Given the description of an element on the screen output the (x, y) to click on. 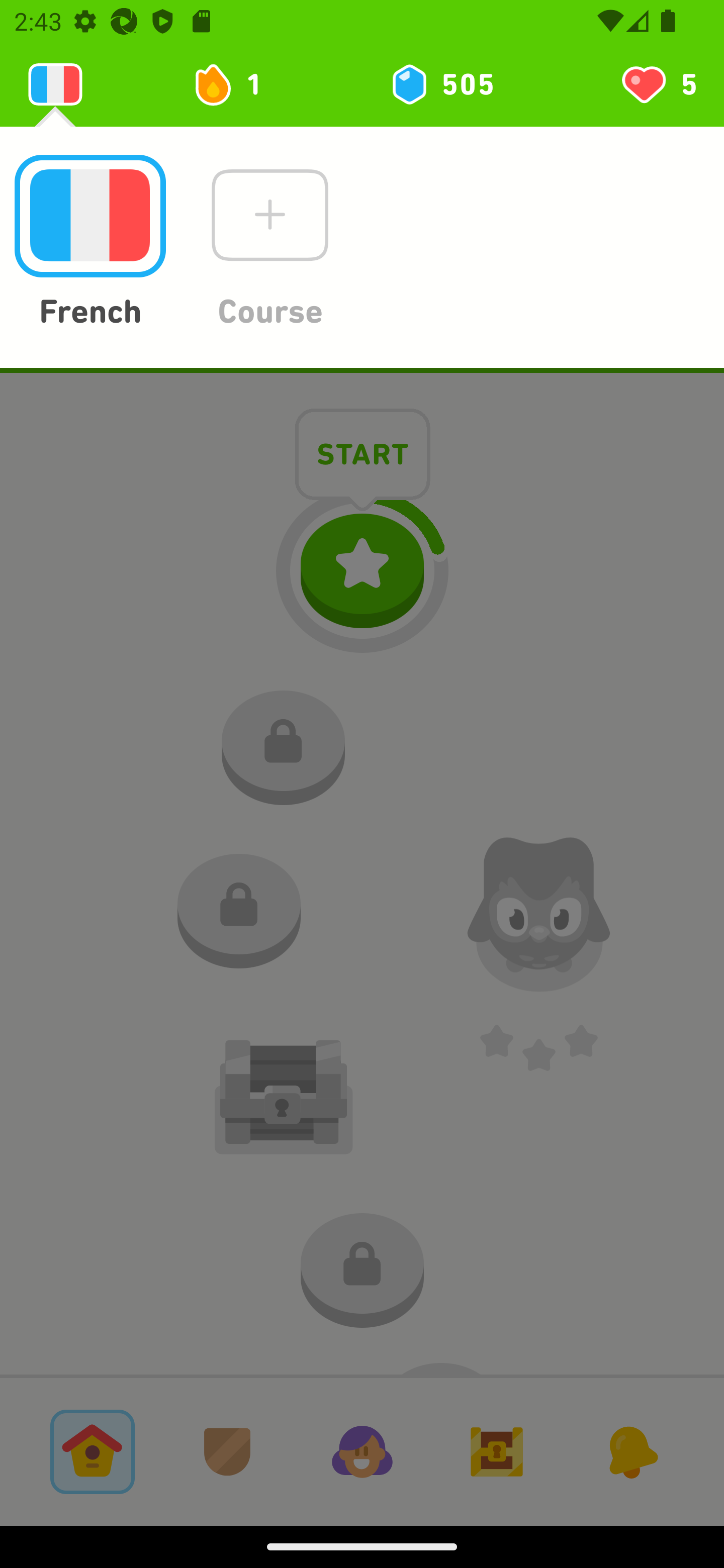
Learning 2131888976 (55, 84)
1 day streak 1 (236, 84)
505 (441, 84)
You have 5 hearts left 5 (657, 84)
French (89, 242)
Course (270, 242)
